Given the description of an element on the screen output the (x, y) to click on. 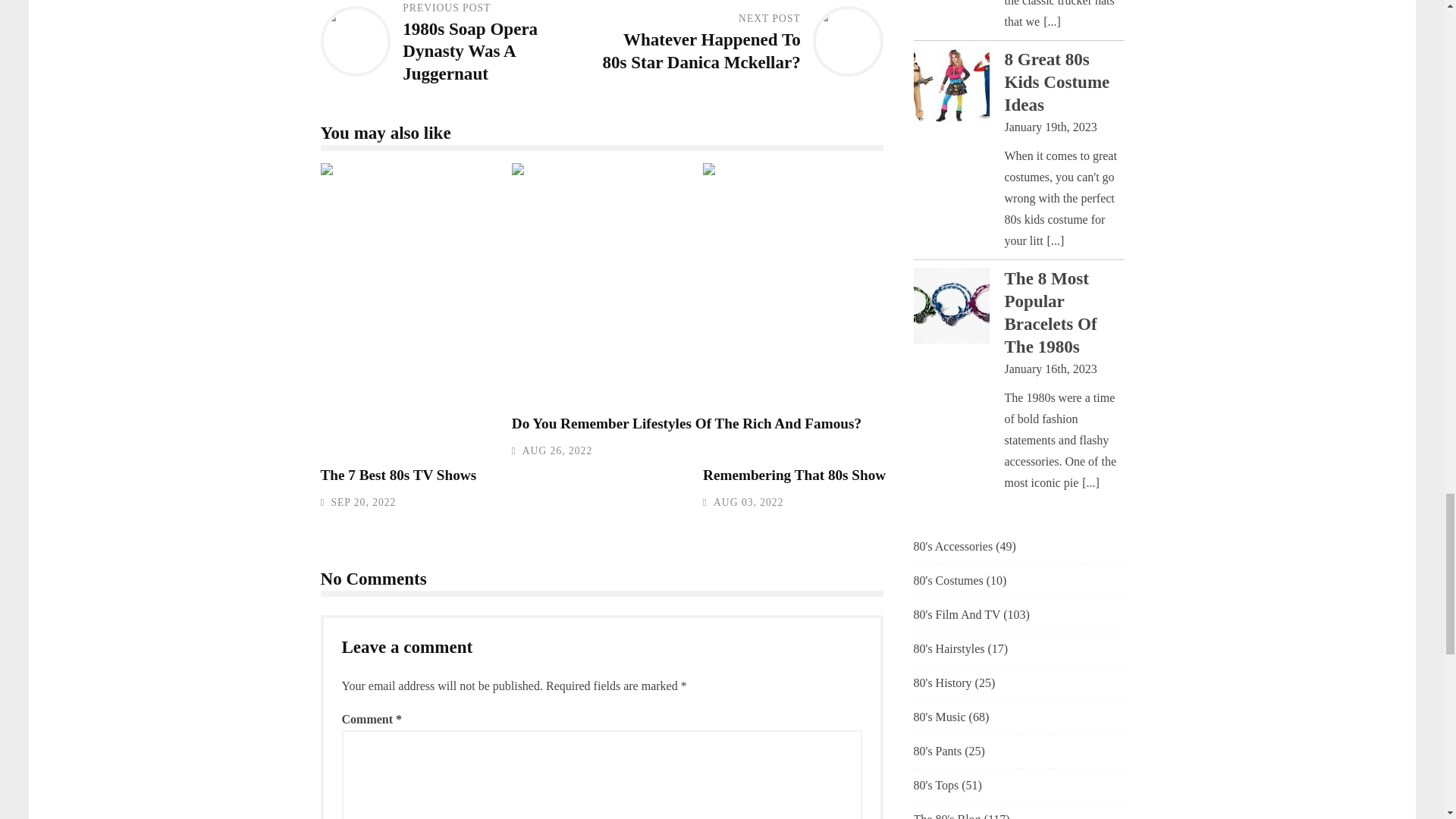
Remembering That 80s Show (921, 308)
Remembering That 80s Show (794, 474)
Do You Remember Lifestyles Of The Rich And Famous? (730, 282)
The 7 Best 80s TV Shows (398, 474)
Whatever Happened To 80s Star Danica Mckellar? (701, 50)
1980s Soap Opera Dynasty Was A Juggernaut (470, 51)
Do You Remember Lifestyles Of The Rich And Famous? (686, 423)
The 7 Best 80s TV Shows (538, 308)
